Given the description of an element on the screen output the (x, y) to click on. 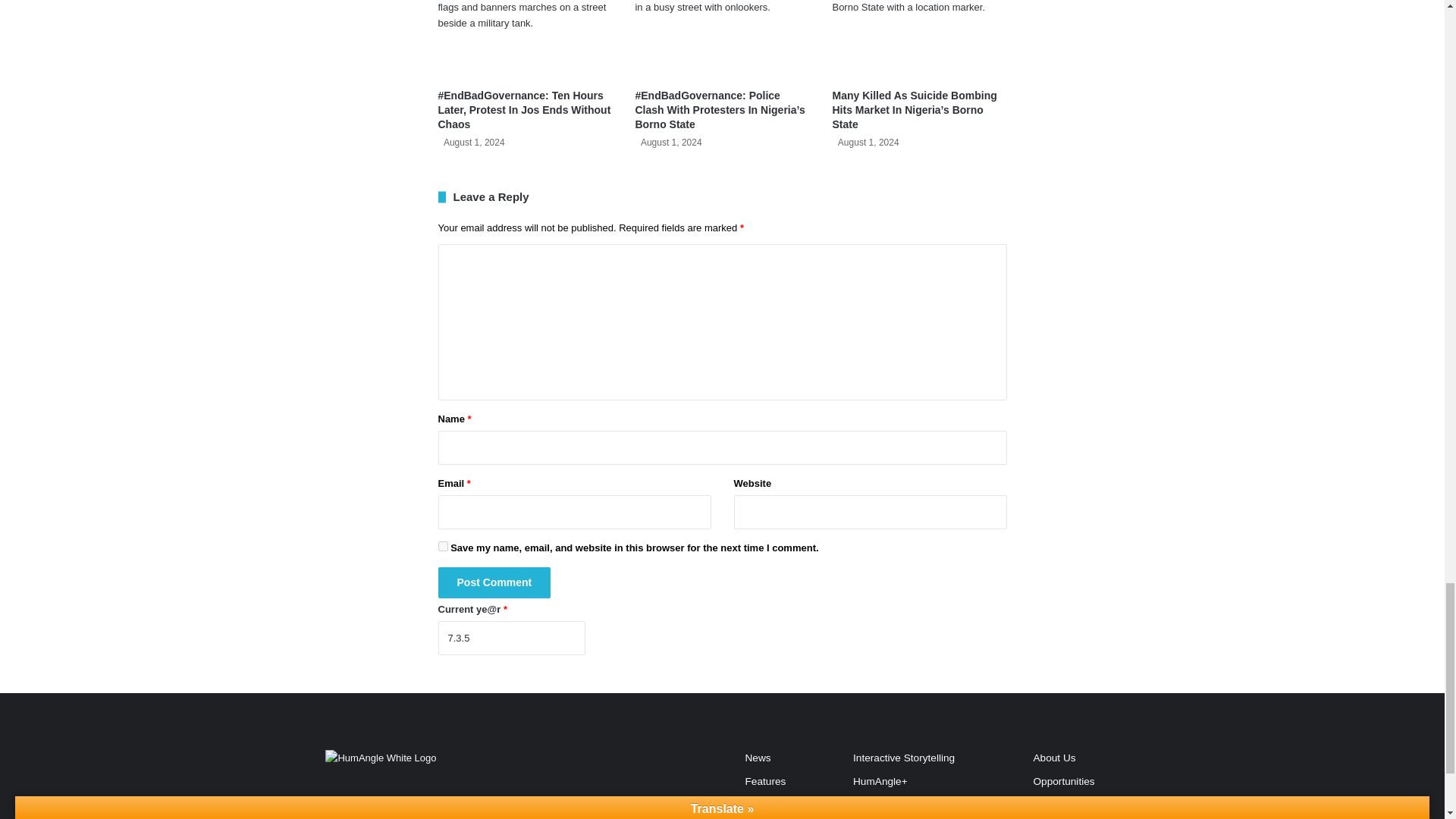
yes (443, 546)
Post Comment (494, 582)
7.3.5 (511, 637)
